Given the description of an element on the screen output the (x, y) to click on. 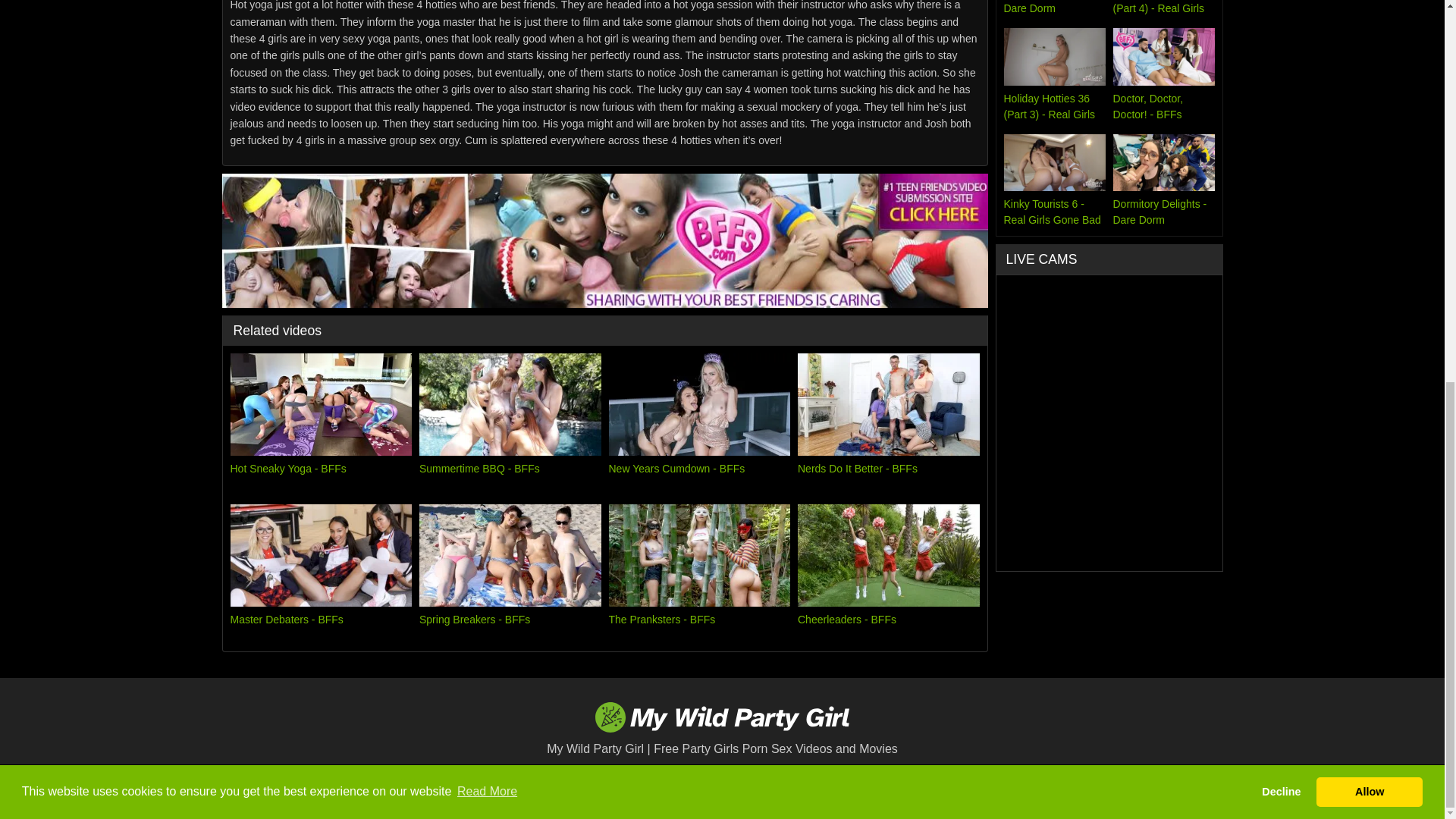
Hot Sneaky Yoga - BFFs (321, 422)
